Given the description of an element on the screen output the (x, y) to click on. 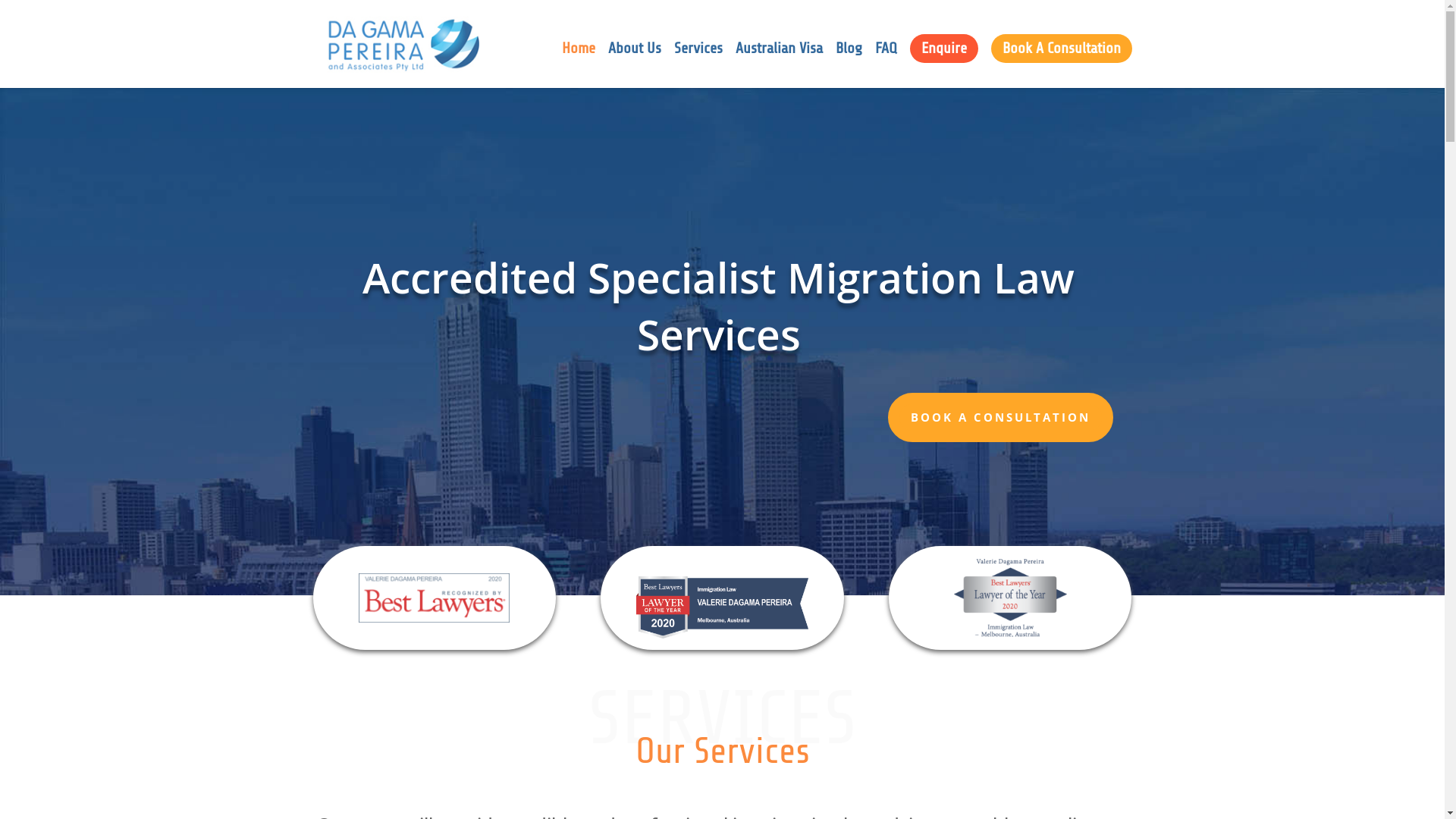
Enquire Element type: text (944, 48)
BOOK A CONSULTATION Element type: text (999, 417)
FAQ Element type: text (886, 65)
Home Element type: text (577, 65)
Book A Consultation Element type: text (1060, 48)
Services Element type: text (697, 65)
About Us Element type: text (634, 65)
Australian Visa Element type: text (778, 65)
Blog Element type: text (848, 65)
